Given the description of an element on the screen output the (x, y) to click on. 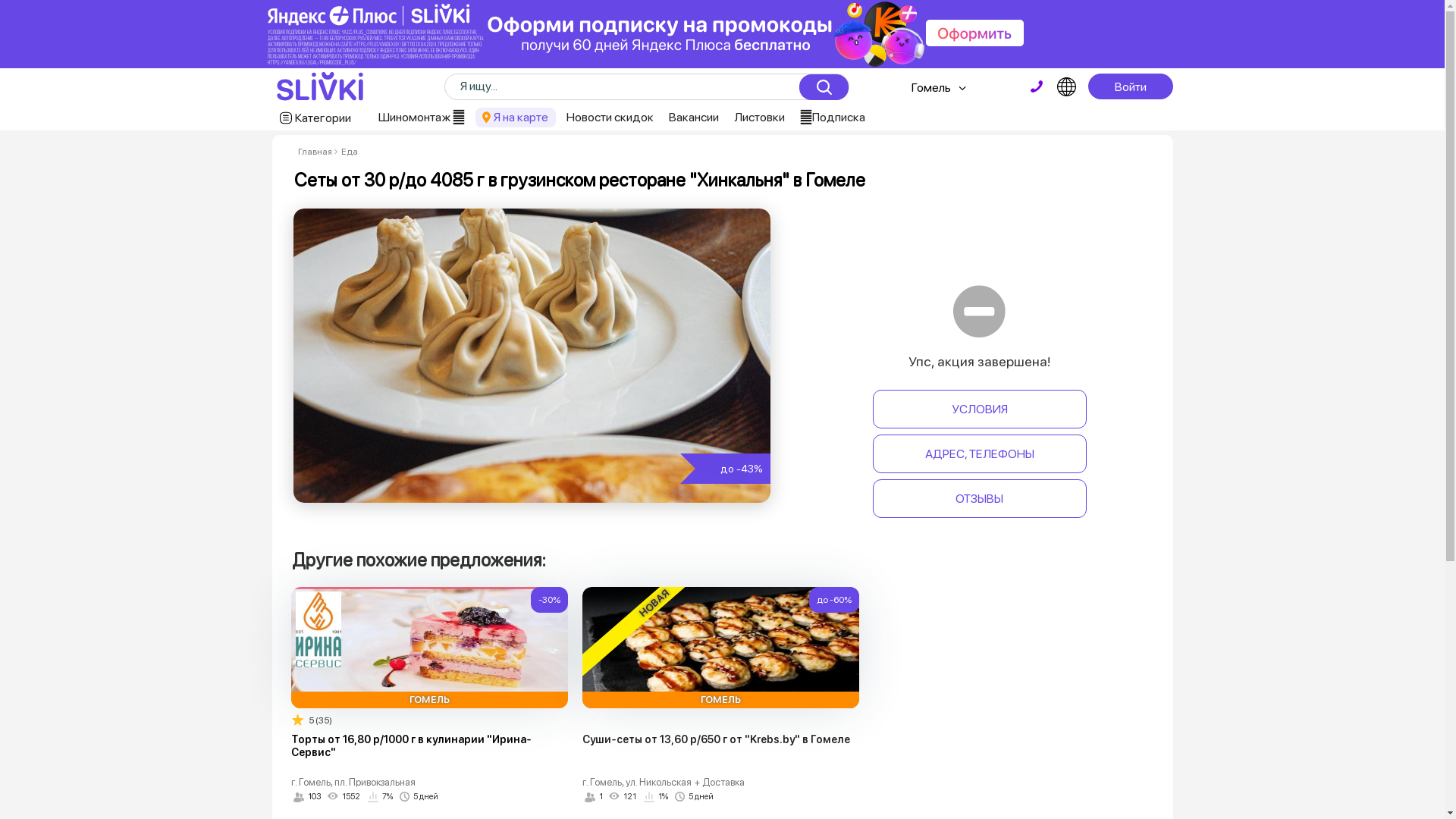
  Element type: text (1036, 86)
103 Element type: text (307, 796)
1 Element type: text (593, 796)
